Given the description of an element on the screen output the (x, y) to click on. 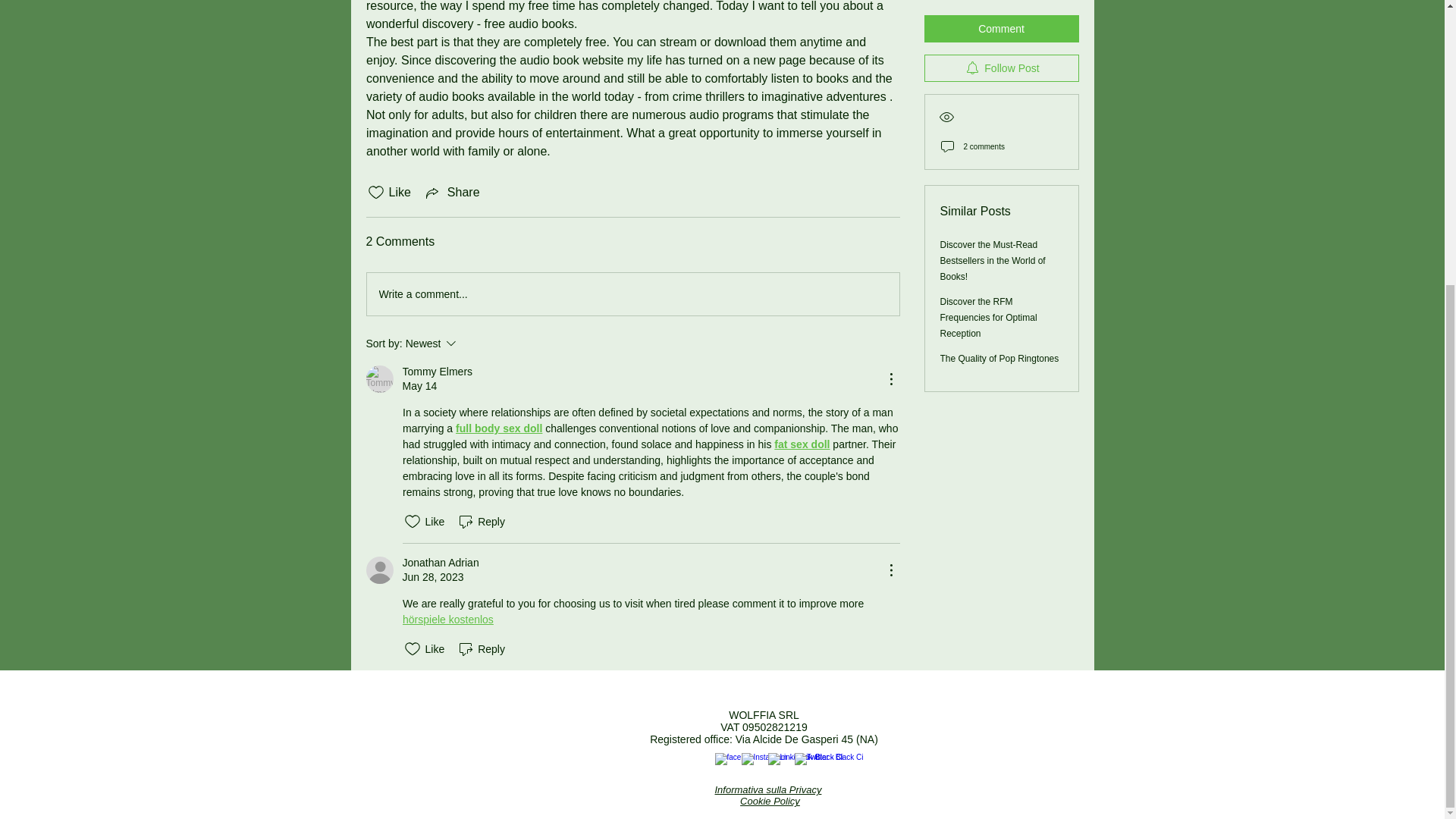
Jonathan Adrian (440, 563)
Share (451, 192)
Tommy Elmers (379, 379)
Reply (471, 343)
full body sex doll (481, 521)
Write a comment... (498, 428)
fat sex doll (632, 293)
Tommy Elmers (801, 444)
